Given the description of an element on the screen output the (x, y) to click on. 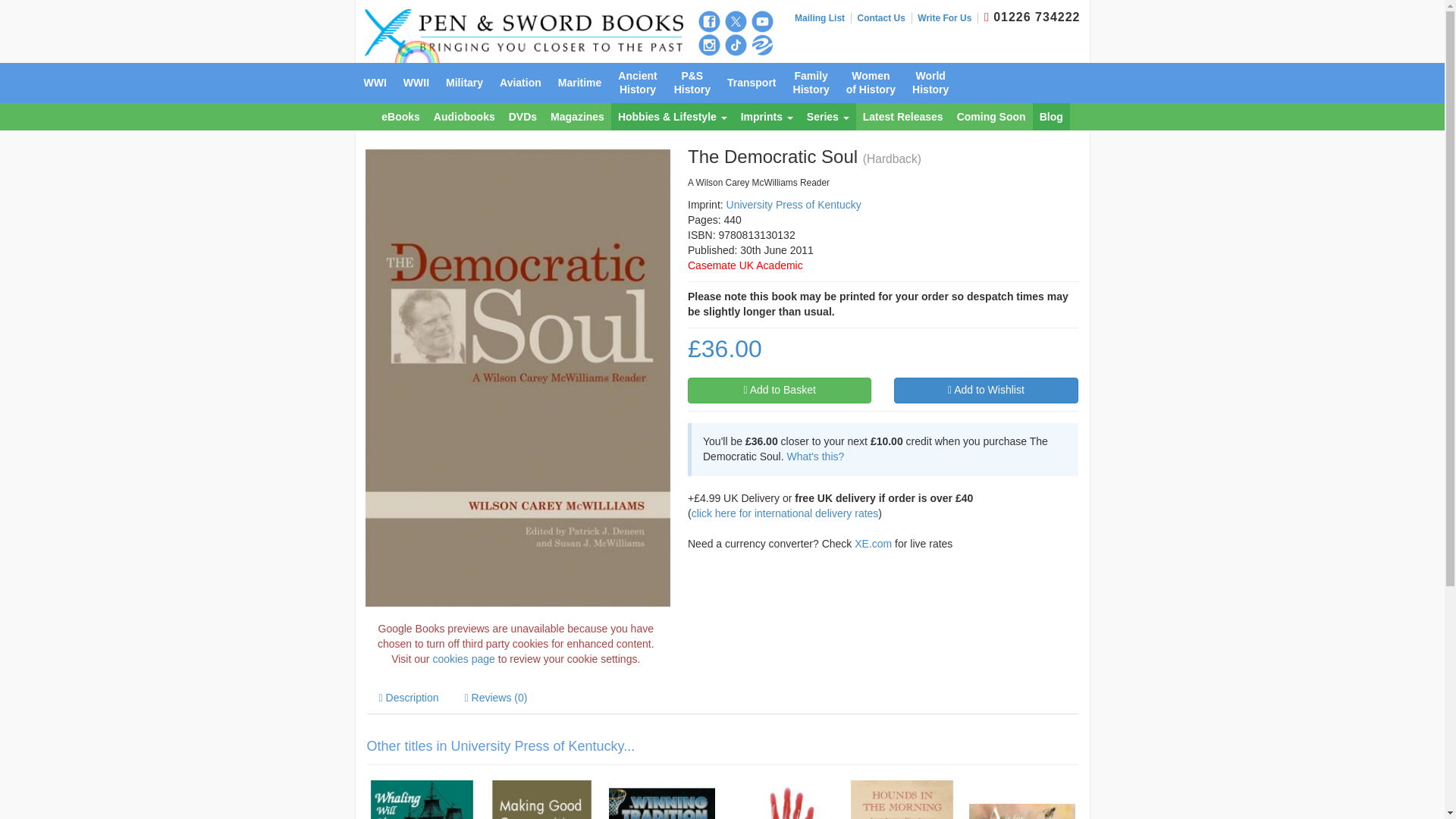
Facebook (708, 21)
A is for Appalachia (1021, 799)
The Philosophy of Horror (781, 799)
TikTok (735, 45)
X (735, 21)
Write For Us (947, 18)
Whaling Will Never Do For Me (421, 799)
Making Good Communities Better (541, 799)
YouTube (762, 21)
Contact Us (884, 18)
